Given the description of an element on the screen output the (x, y) to click on. 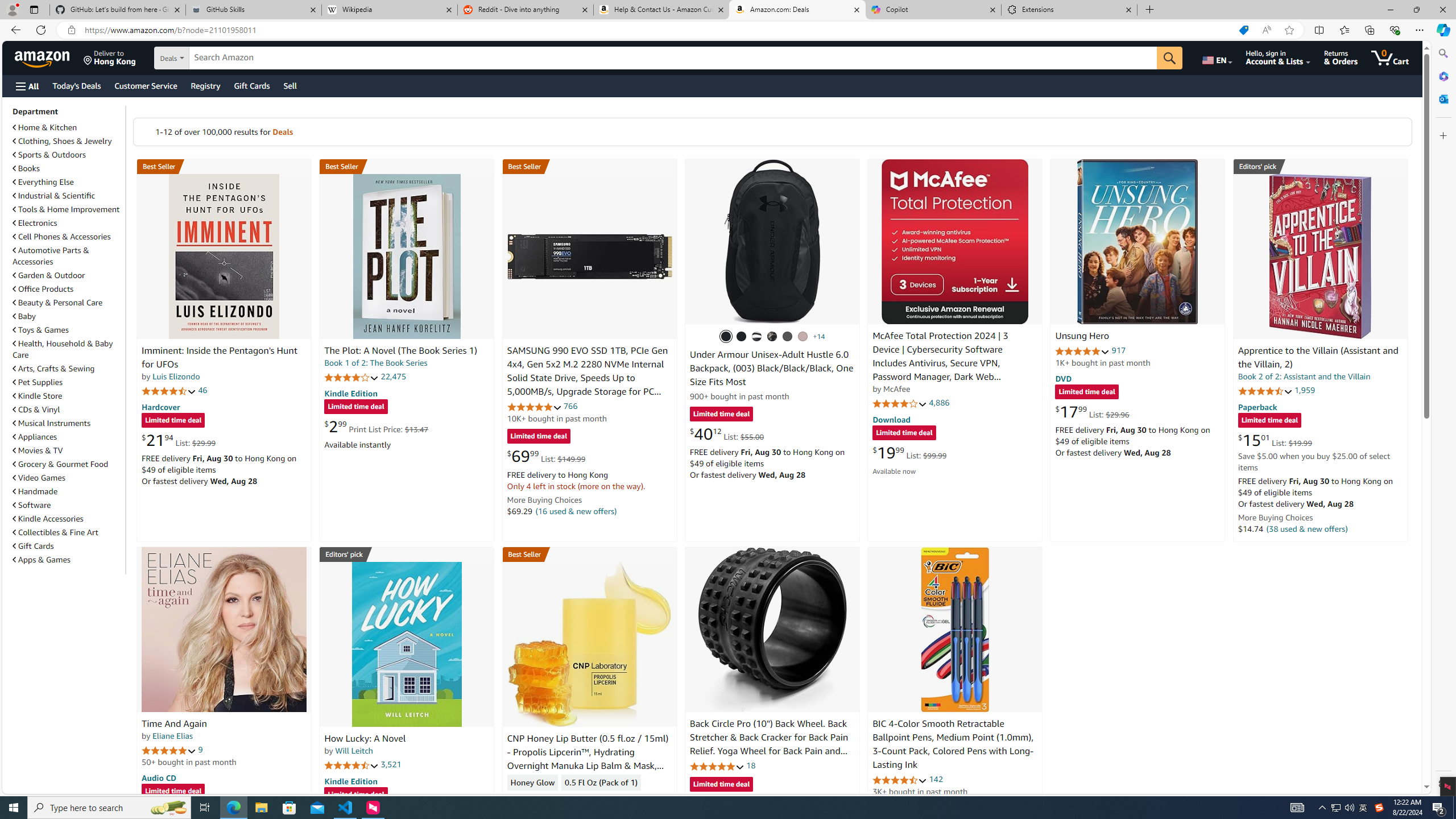
Go (1169, 57)
Book 1 of 2: The Book Series (376, 362)
Electronics (67, 222)
Side bar (1443, 418)
Books (26, 167)
3,521 (390, 764)
Garden & Outdoor (67, 274)
4.1 out of 5 stars (899, 403)
How Lucky: A Novel (365, 738)
